Given the description of an element on the screen output the (x, y) to click on. 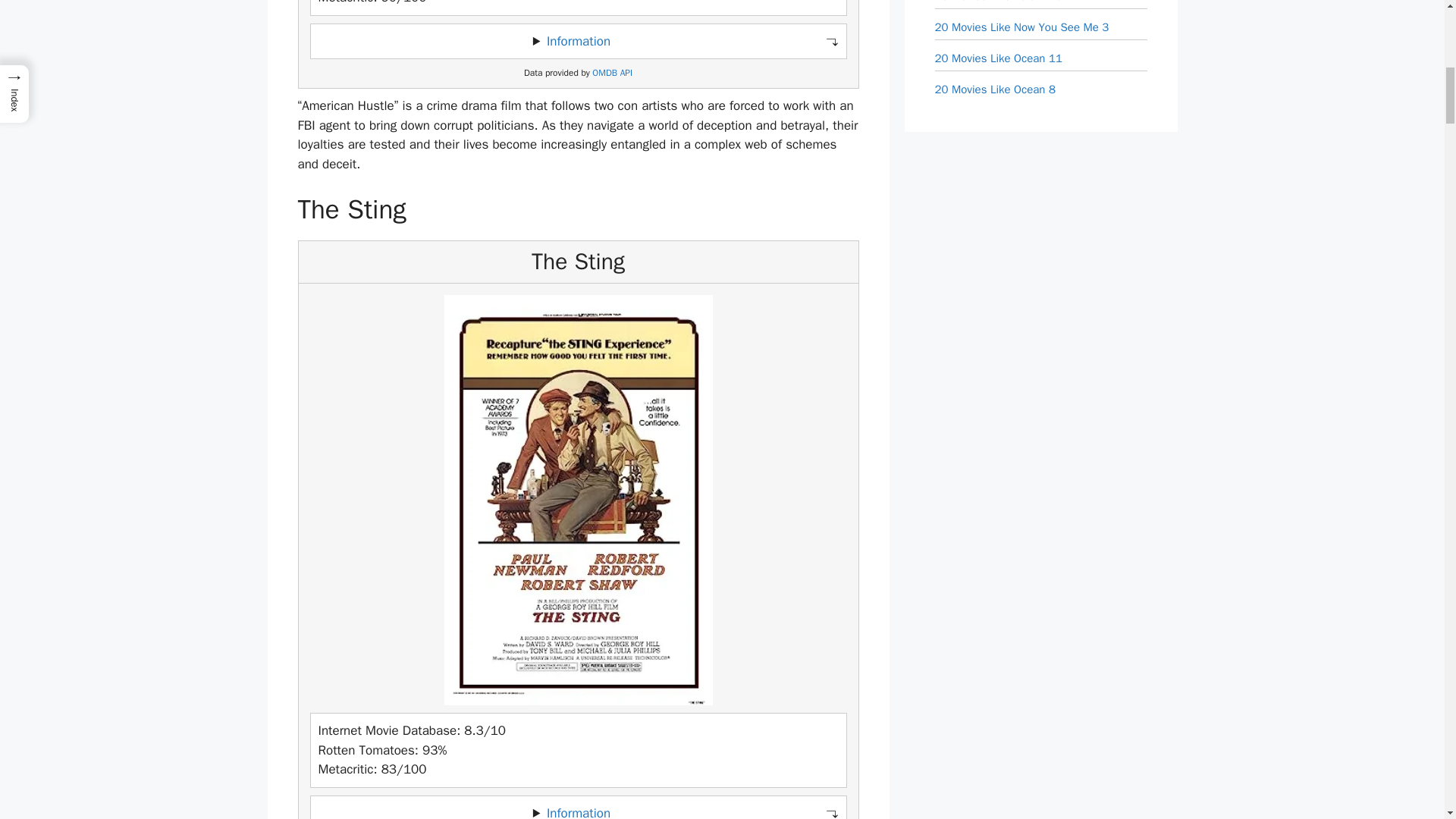
Toggle information (578, 807)
Toggle information (578, 41)
Information (578, 41)
OMDB API (611, 72)
Open Movie Database API (611, 72)
Information (578, 812)
